Given the description of an element on the screen output the (x, y) to click on. 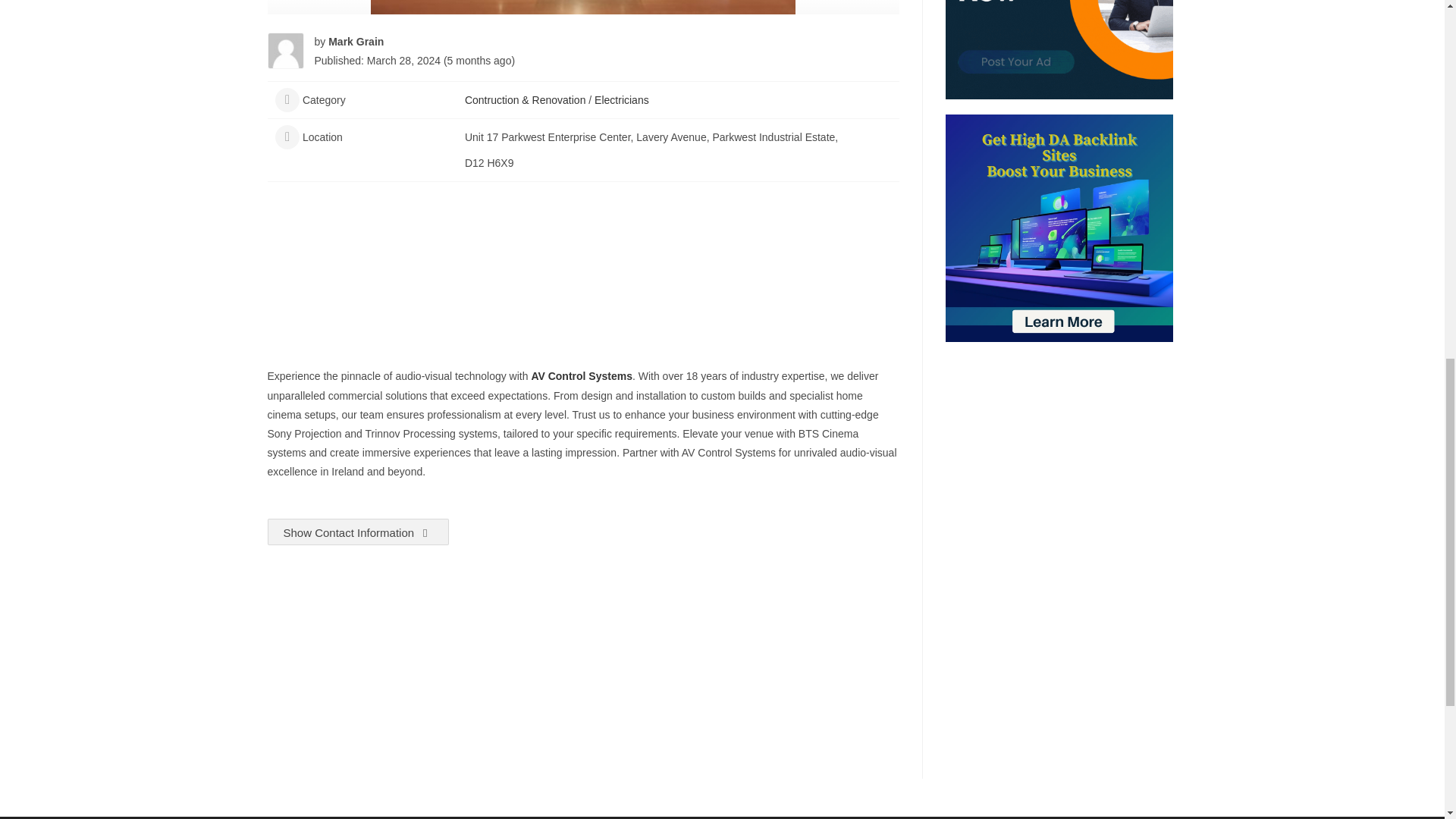
Electricians (621, 100)
Show Contact Information (357, 531)
Advertisement (582, 656)
Advertisement (582, 285)
AV Control Systems (581, 376)
